Given the description of an element on the screen output the (x, y) to click on. 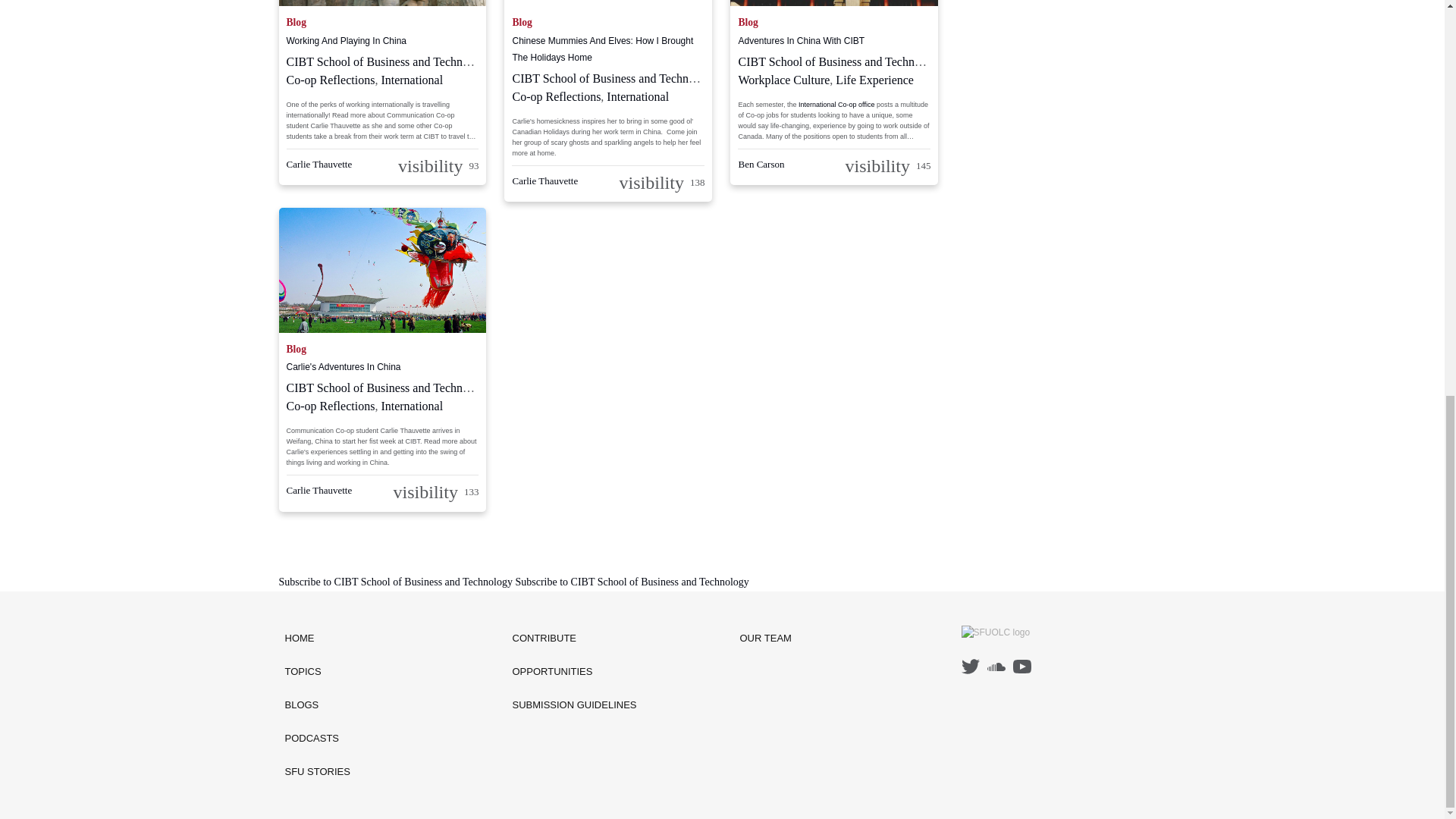
Contribute to the OLC (574, 638)
OLC Blogs (317, 704)
